Given the description of an element on the screen output the (x, y) to click on. 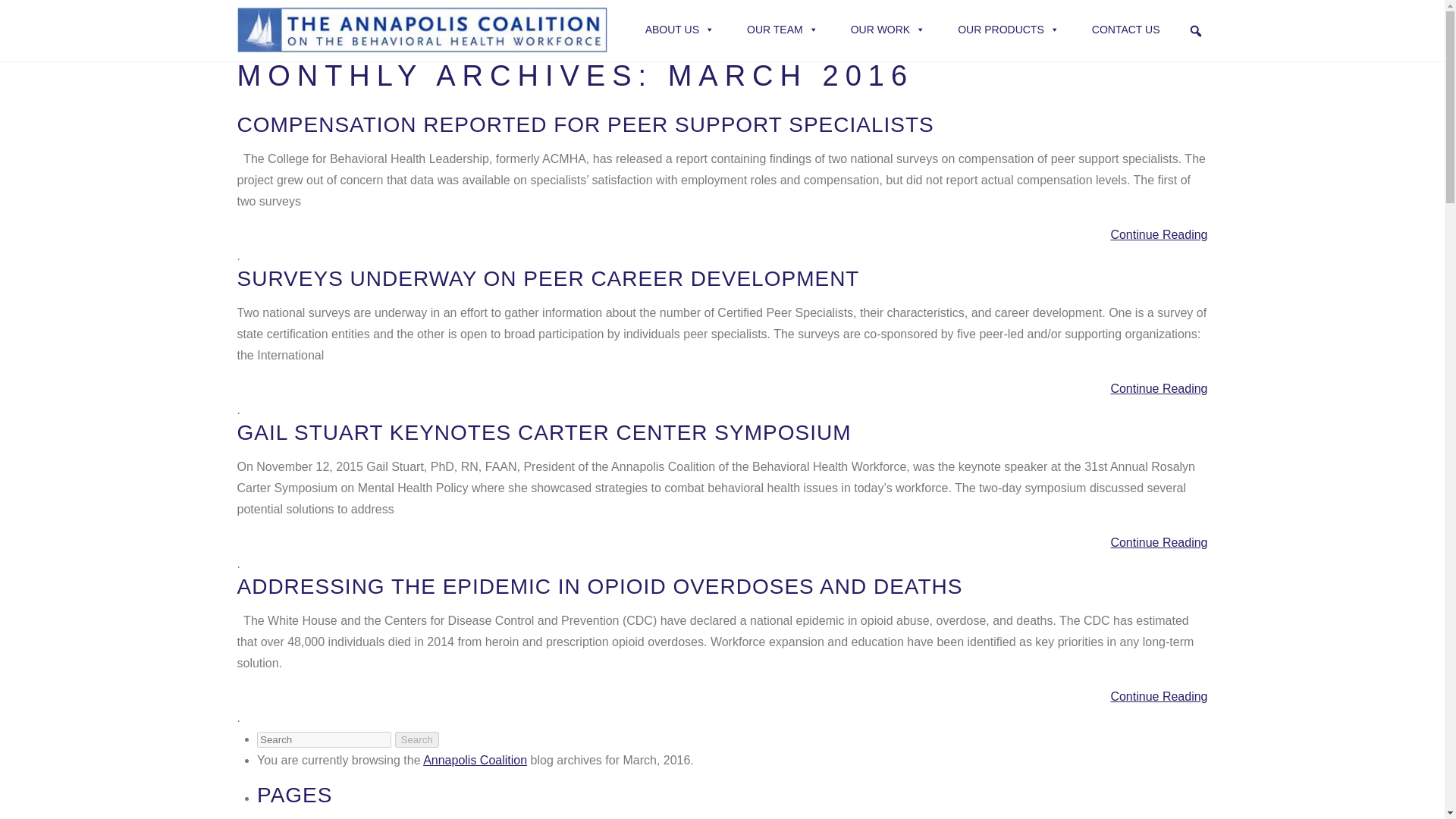
COMPENSATION REPORTED FOR PEER SUPPORT SPECIALISTS (584, 124)
OUR WORK (888, 29)
Continue Reading (721, 696)
Search (416, 739)
CONTACT US (1125, 29)
Continue Reading (721, 388)
ABOUT US (679, 29)
Continue Reading (721, 234)
GAIL STUART KEYNOTES CARTER CENTER SYMPOSIUM (542, 432)
Permalink to Surveys Underway on Peer Career Development (547, 278)
Search (11, 7)
OUR PRODUCTS (1008, 29)
Search (416, 739)
SURVEYS UNDERWAY ON PEER CAREER DEVELOPMENT (547, 278)
ADDRESSING THE EPIDEMIC IN OPIOID OVERDOSES AND DEATHS (598, 586)
